Given the description of an element on the screen output the (x, y) to click on. 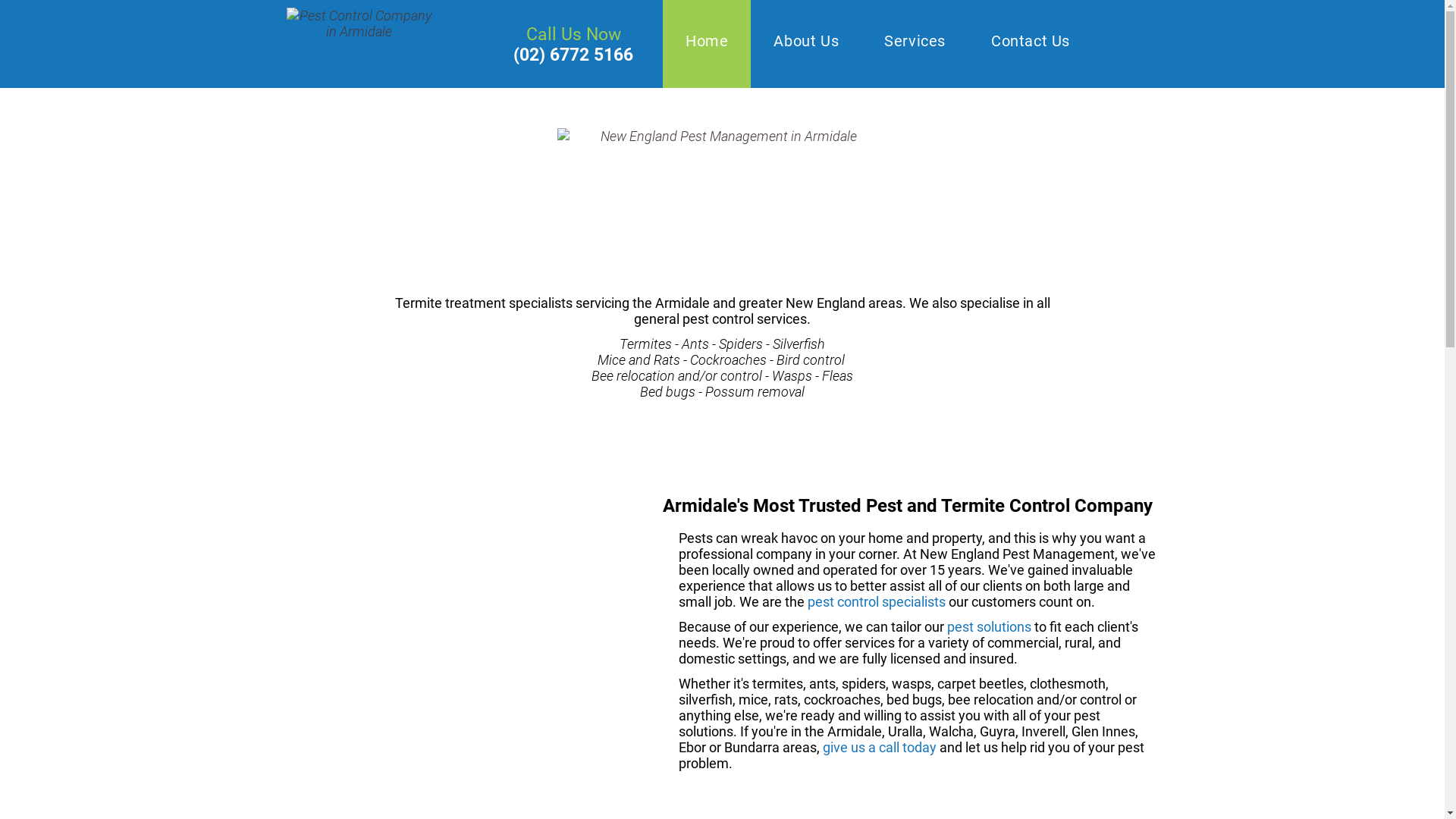
pest solutions Element type: text (989, 626)
pest control specialists Element type: text (876, 601)
give us a call today Element type: text (879, 747)
Learn More About Our Pest Control Company Element type: hover (359, 42)
Learn More About New England Pest Management Element type: hover (722, 207)
(02) 6772 5166 Element type: text (573, 54)
